Given the description of an element on the screen output the (x, y) to click on. 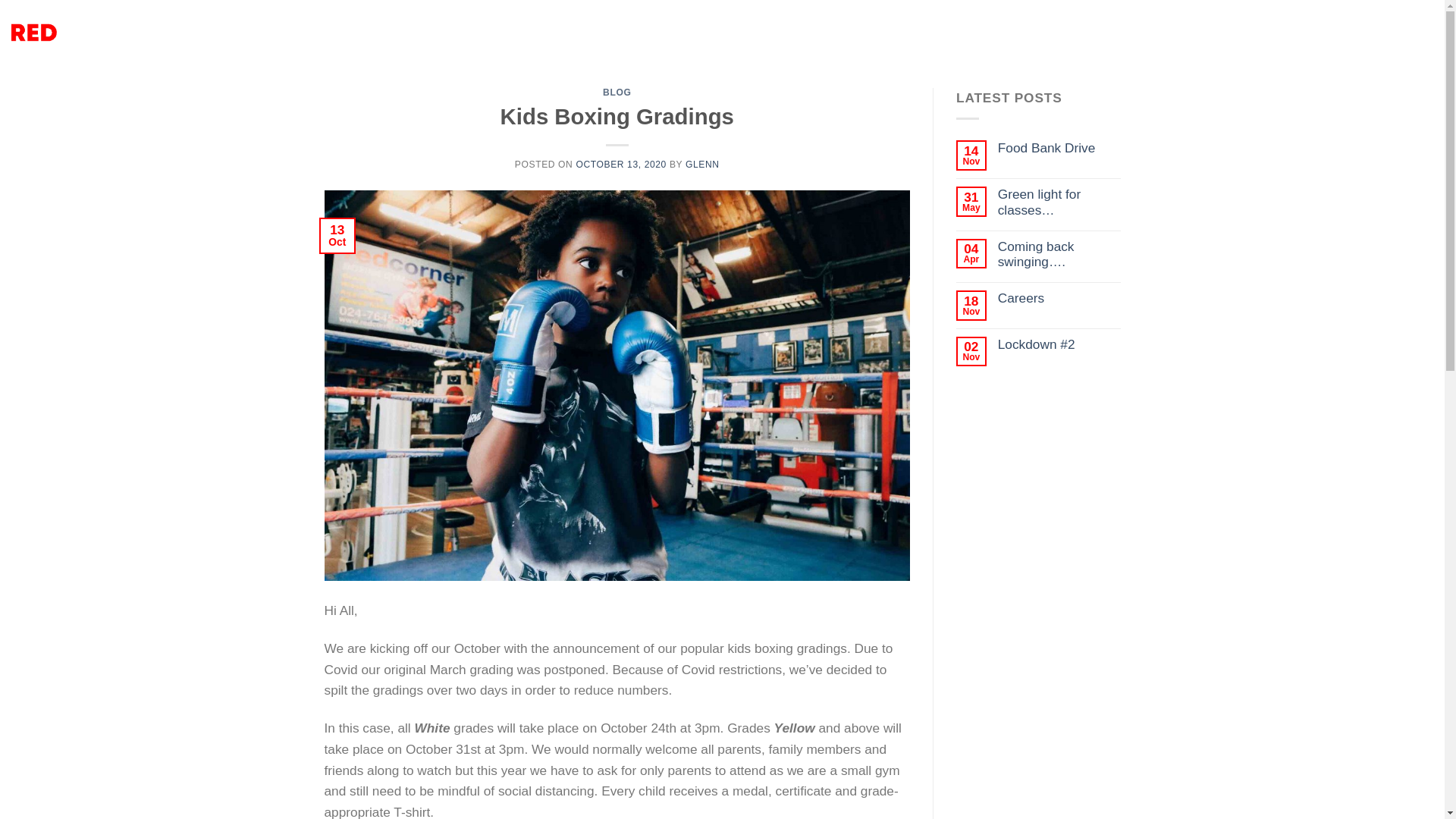
Cart (1384, 32)
KIDS CLASSES (682, 32)
Careers (1059, 298)
HOME (289, 32)
CONTACT (814, 32)
Careers (1059, 298)
Food Bank Drive (1059, 148)
OCTOBER 13, 2020 (620, 163)
CLASS TIMETABLE (365, 32)
Food Bank Drive (1059, 148)
Red Corner Gym - Become More (119, 32)
ABOUT (754, 32)
Login (1296, 32)
BLOG (616, 91)
